Given the description of an element on the screen output the (x, y) to click on. 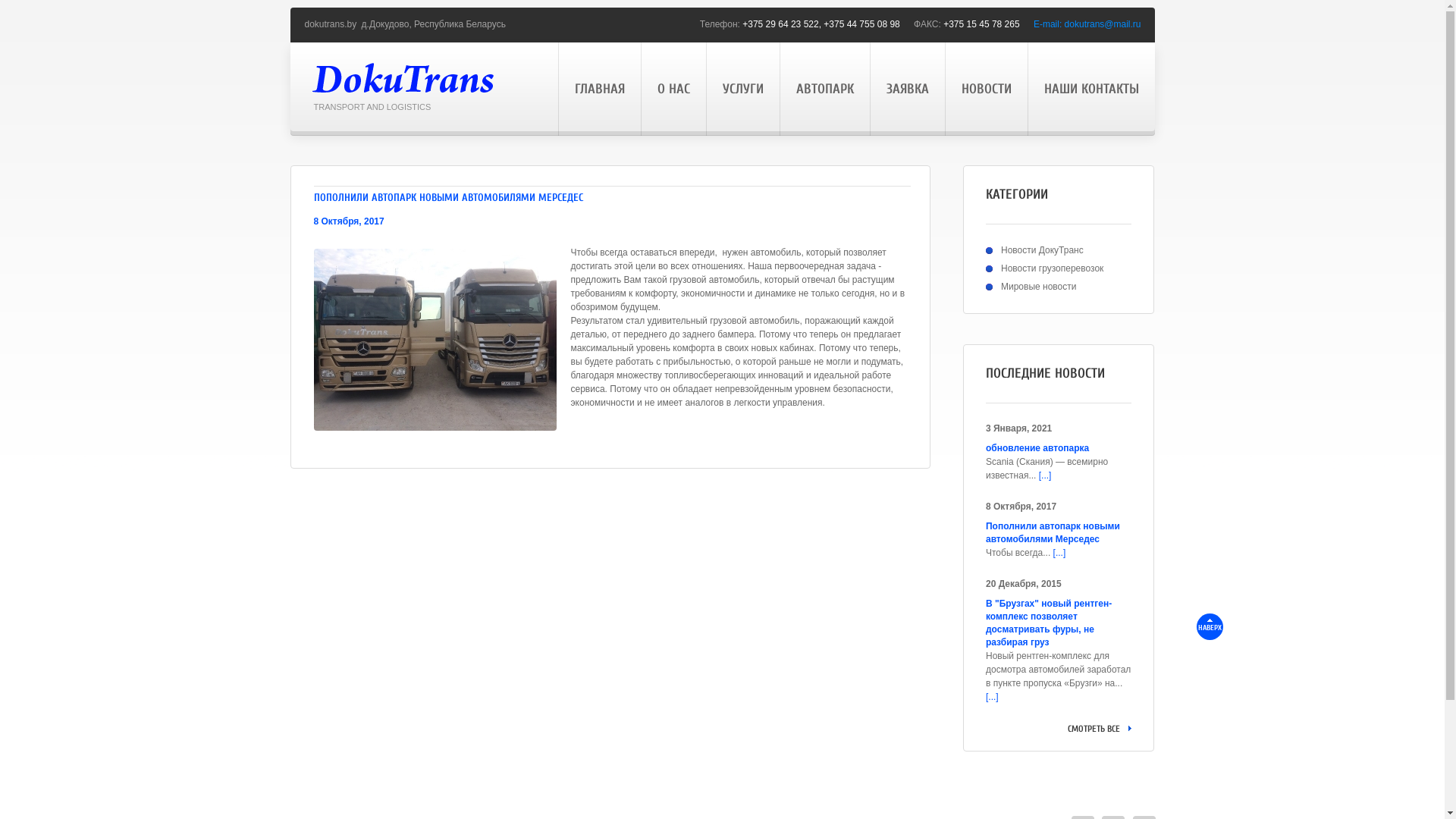
[...] Element type: text (991, 696)
dokutrans.by Element type: text (331, 23)
[...] Element type: text (1044, 475)
[...] Element type: text (1059, 552)
dokutrans@mail.ru Element type: text (1102, 23)
